Given the description of an element on the screen output the (x, y) to click on. 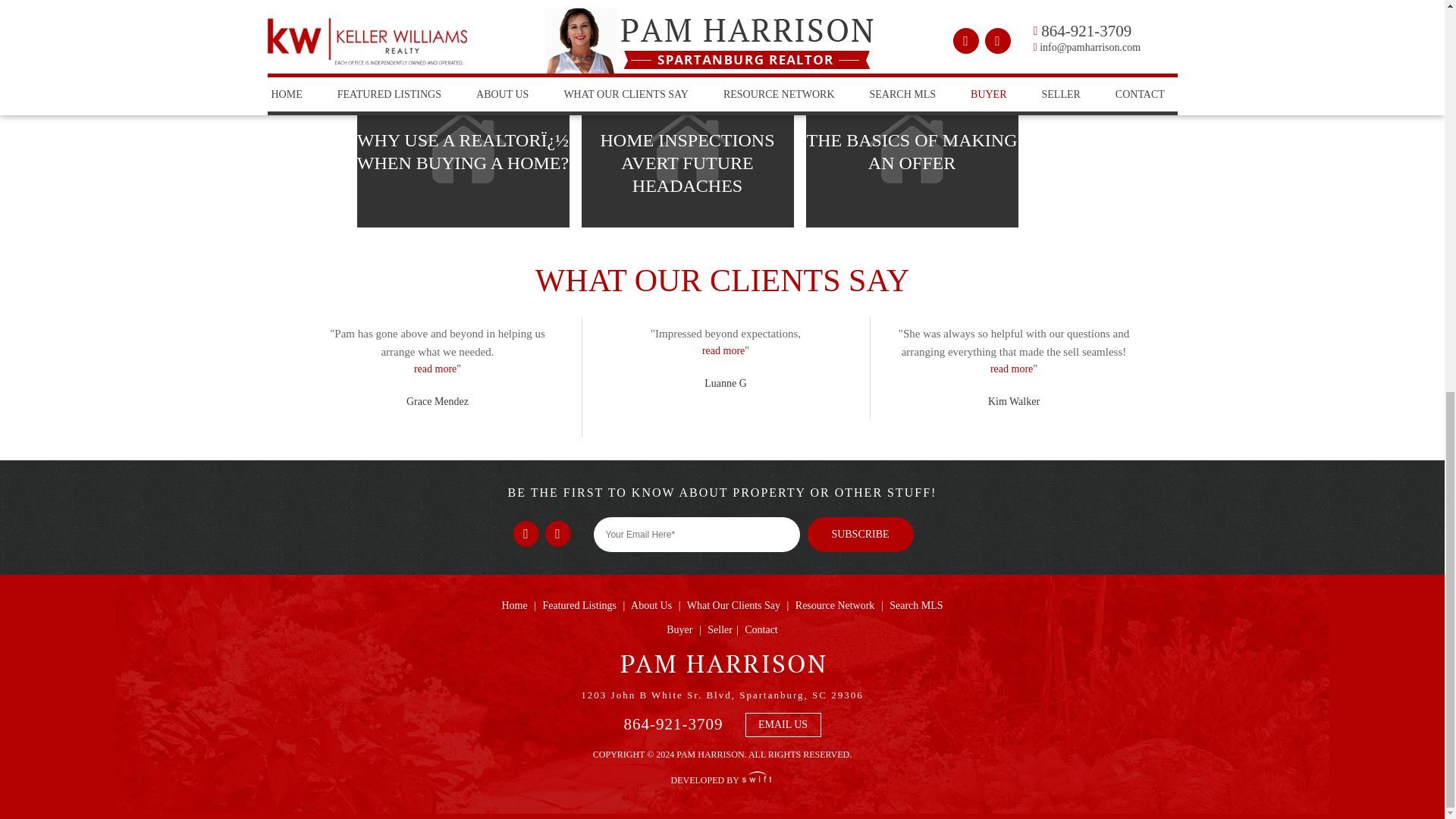
HOW TO CHOOSE A HOME (686, 28)
HOME INSPECTIONS AVERT FUTURE HEADACHES (686, 148)
How to Choose a Neighborhood for Your Home Search (462, 28)
THE BASICS OF MAKING AN OFFER (911, 148)
read more (1011, 368)
TAKE CHARGE WHEN BUYING A HOME (911, 28)
Home Inspections Avert Future Headaches (686, 147)
How to Choose a Home (686, 28)
Take Charge When Buying a Home (911, 28)
The Basics of Making an Offer (911, 147)
read more (722, 350)
HOW TO CHOOSE A NEIGHBORHOOD FOR YOUR HOME SEARCH (462, 28)
read more (435, 368)
